Given the description of an element on the screen output the (x, y) to click on. 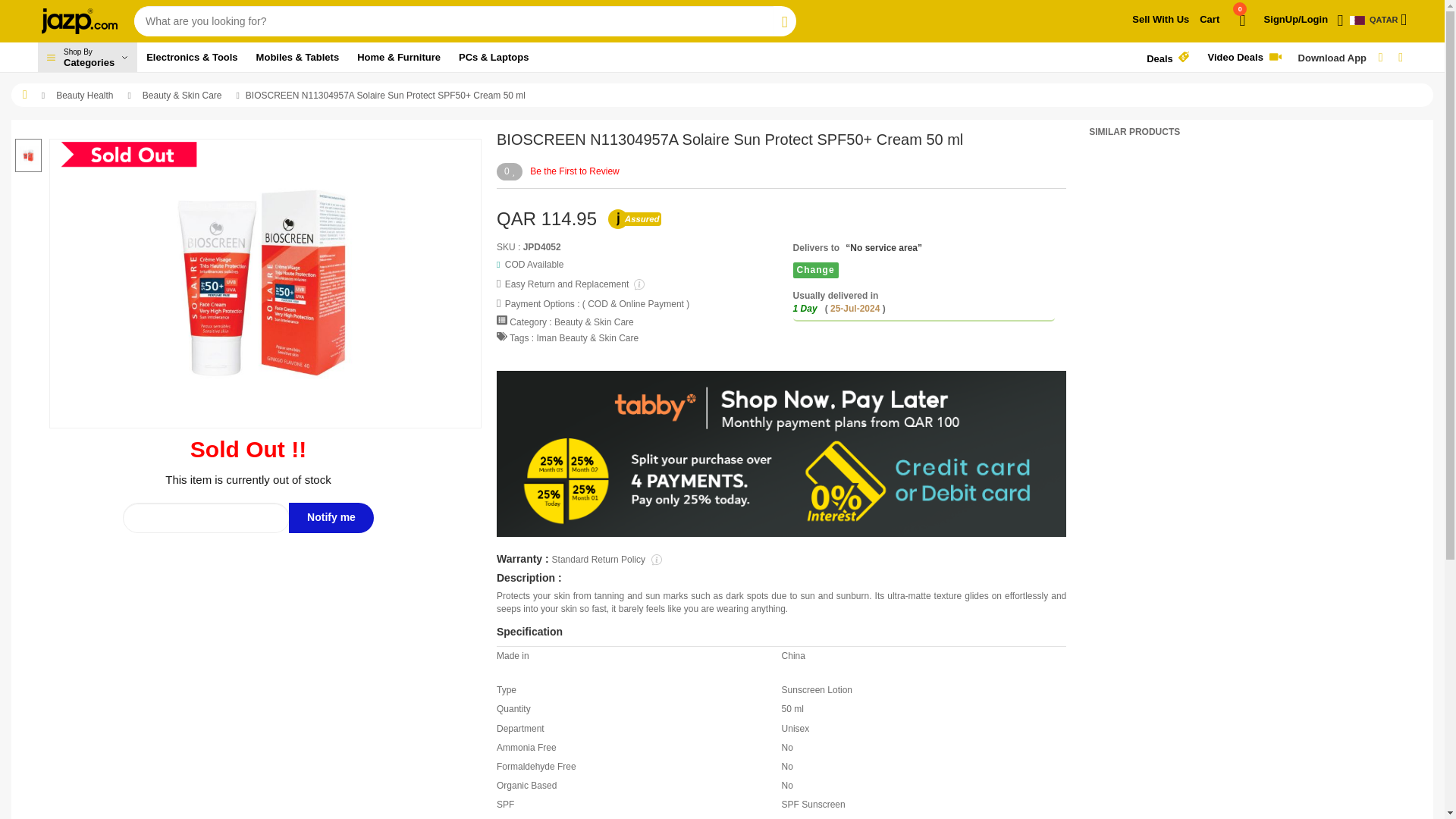
Video Deals (1224, 25)
Deals (1247, 57)
Sell With Us (1167, 57)
Shop By Categories (1160, 19)
Notify me (86, 57)
QATAR (86, 57)
